Given the description of an element on the screen output the (x, y) to click on. 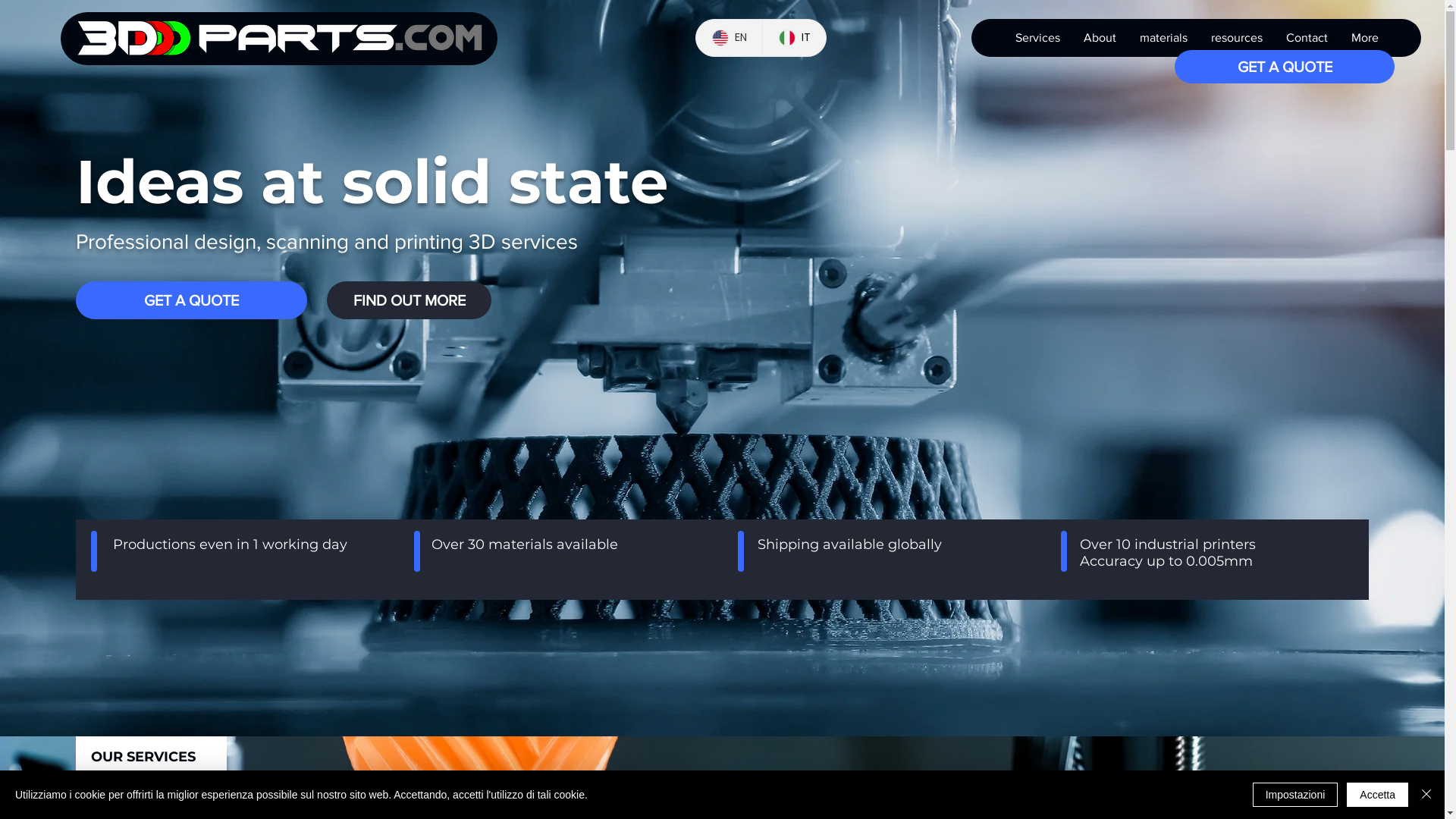
Contact Element type: text (1306, 37)
GET A QUOTE Element type: text (191, 300)
About Element type: text (1098, 37)
Services Element type: text (1036, 37)
materials Element type: text (1162, 37)
resources Element type: text (1235, 37)
EN Element type: text (729, 37)
GET A QUOTE Element type: text (1284, 66)
Accetta Element type: text (1377, 794)
IT Element type: text (793, 37)
FIND OUT MORE Element type: text (408, 300)
Impostazioni Element type: text (1295, 794)
